Given the description of an element on the screen output the (x, y) to click on. 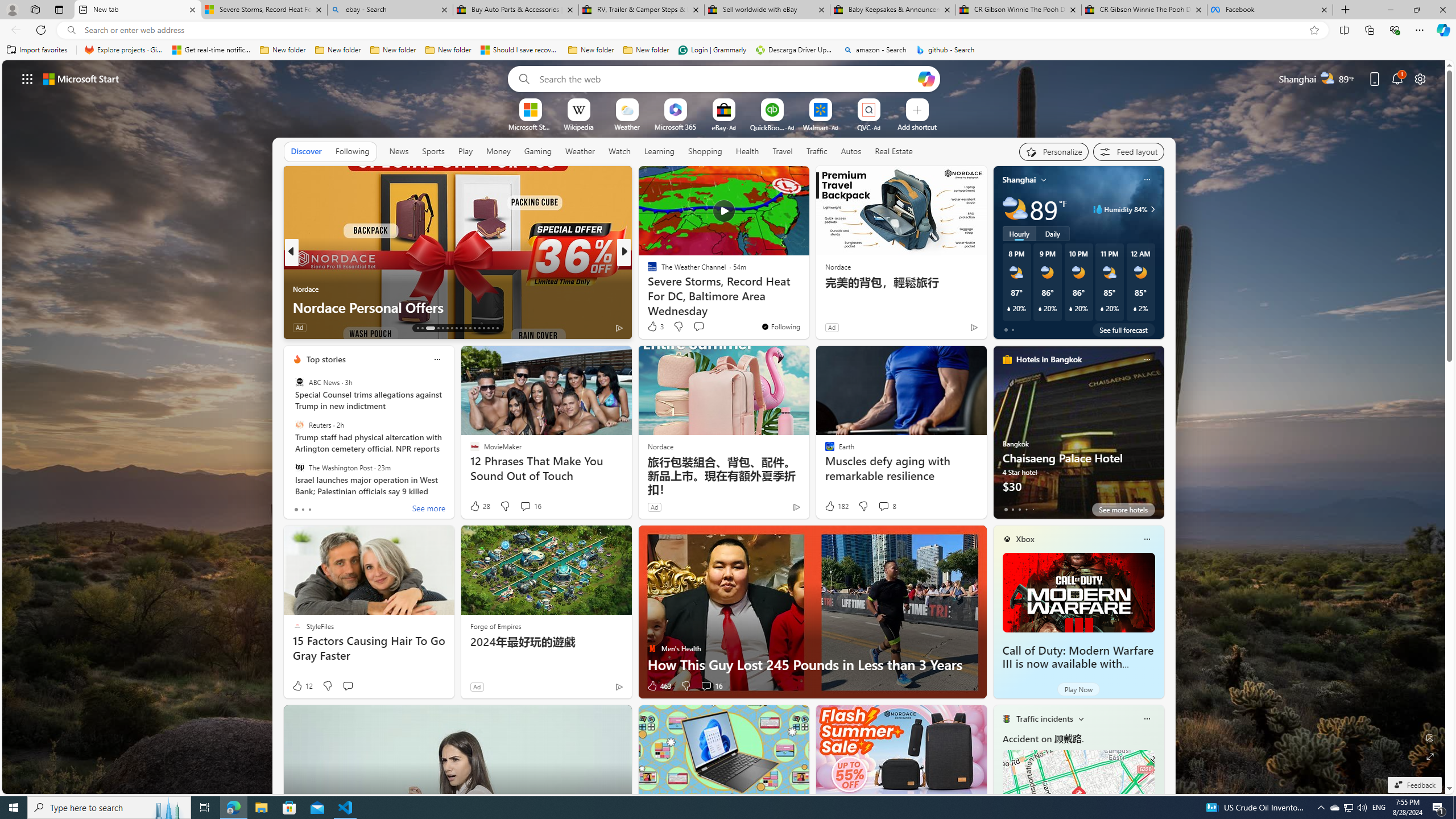
Import favorites (36, 49)
Las Vegas Strip visitors face outrageous new fee (807, 307)
See full forecast (1123, 329)
353 Like (654, 327)
Body Network (647, 270)
You're following The Weather Channel (780, 326)
AutomationID: tab-17 (442, 328)
Nordace Personal Offers (457, 307)
App launcher (27, 78)
